Given the description of an element on the screen output the (x, y) to click on. 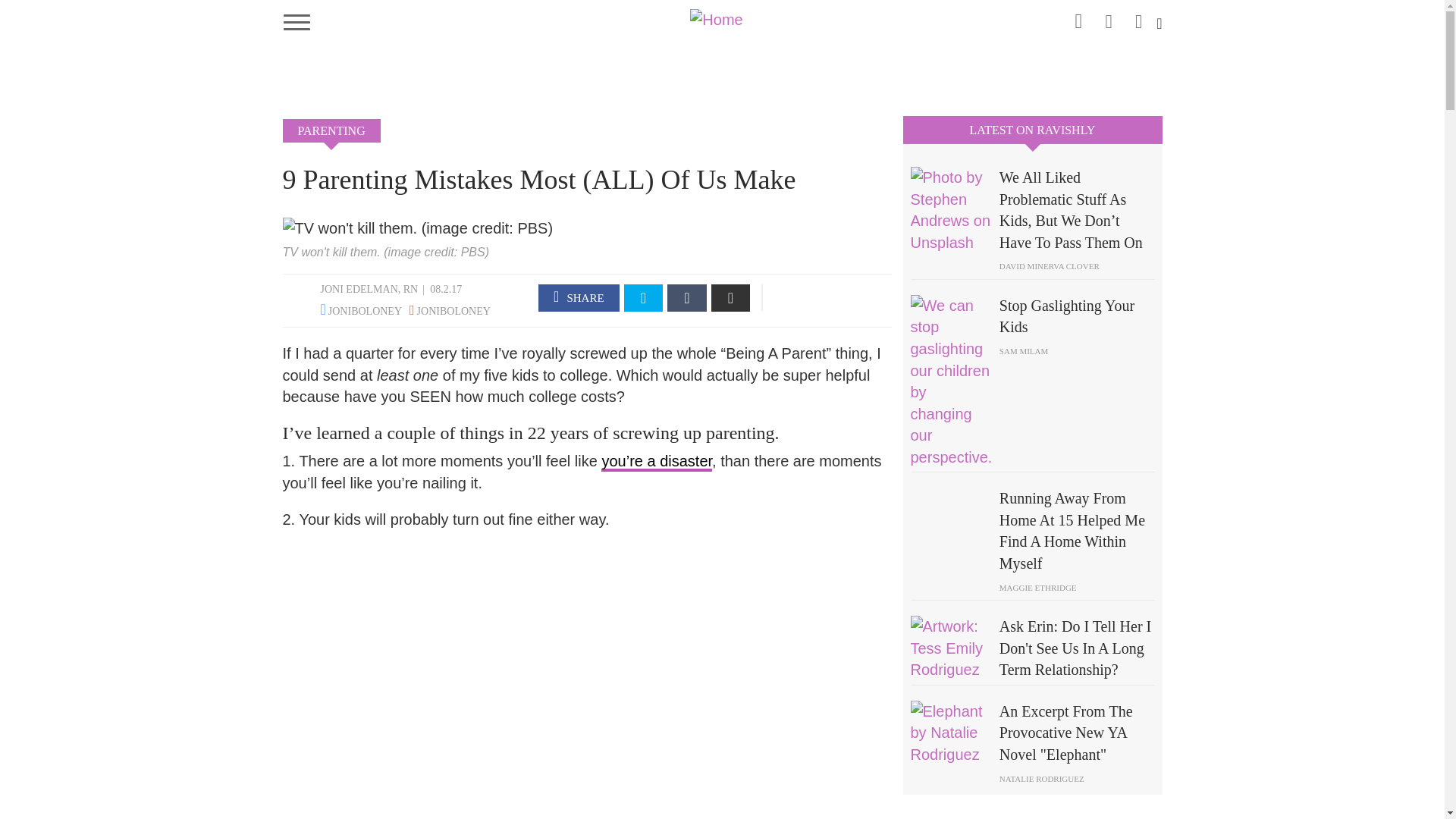
JONI (331, 288)
JONIBOLONEY (365, 310)
EDELMAN, RN (381, 288)
Tumblr (686, 298)
SHARE (579, 298)
Home (722, 18)
twitter (1138, 16)
twitter (643, 298)
Email (731, 298)
facebook (579, 298)
PARENTING (331, 130)
JONIBOLONEY (453, 310)
facebook (1108, 16)
instagram (1077, 18)
